Given the description of an element on the screen output the (x, y) to click on. 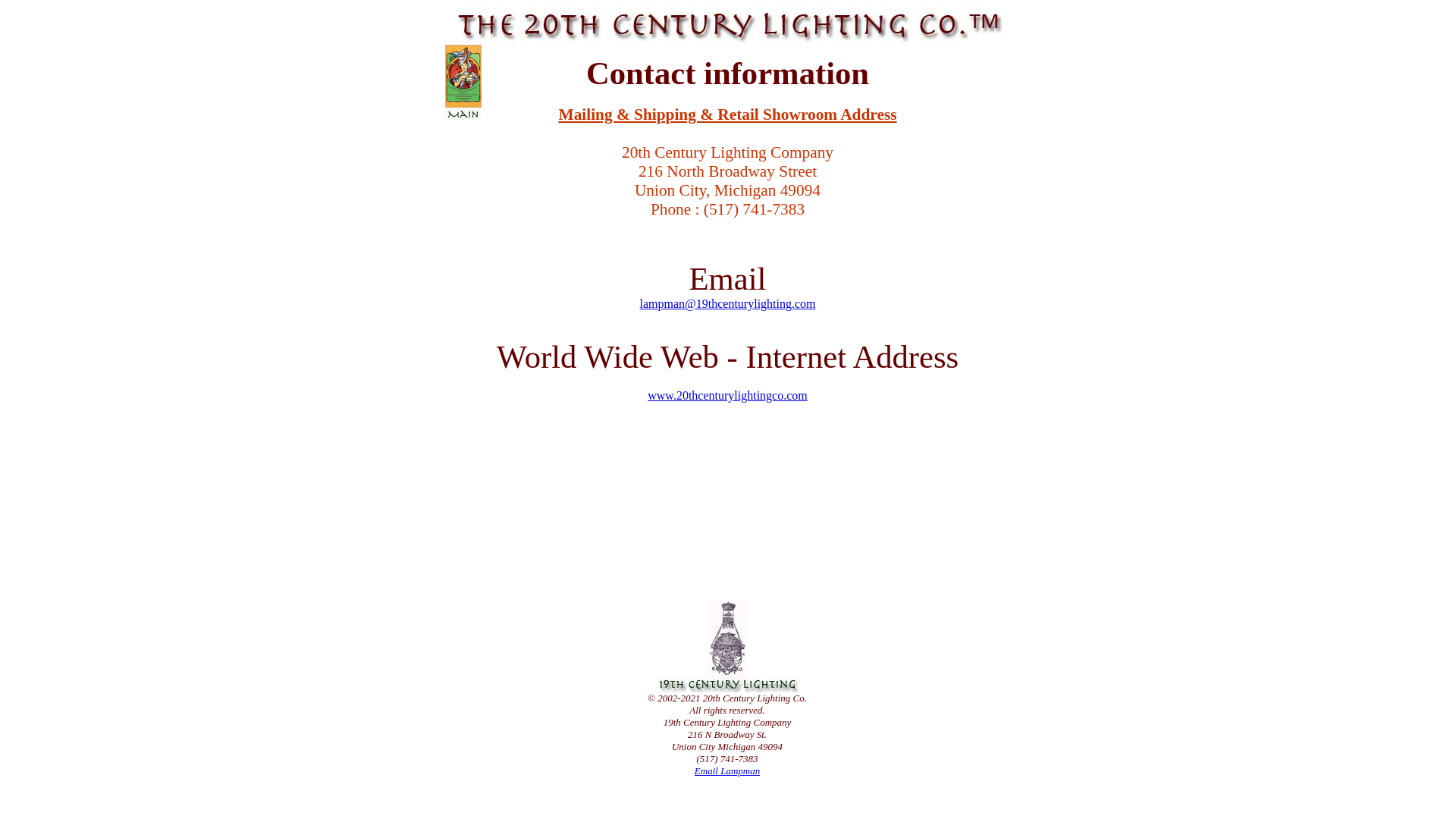
lampman@19thcenturylighting.com Element type: text (727, 303)
www.20thcenturylightingco.com Element type: text (726, 395)
Email Lampman Element type: text (726, 769)
